Given the description of an element on the screen output the (x, y) to click on. 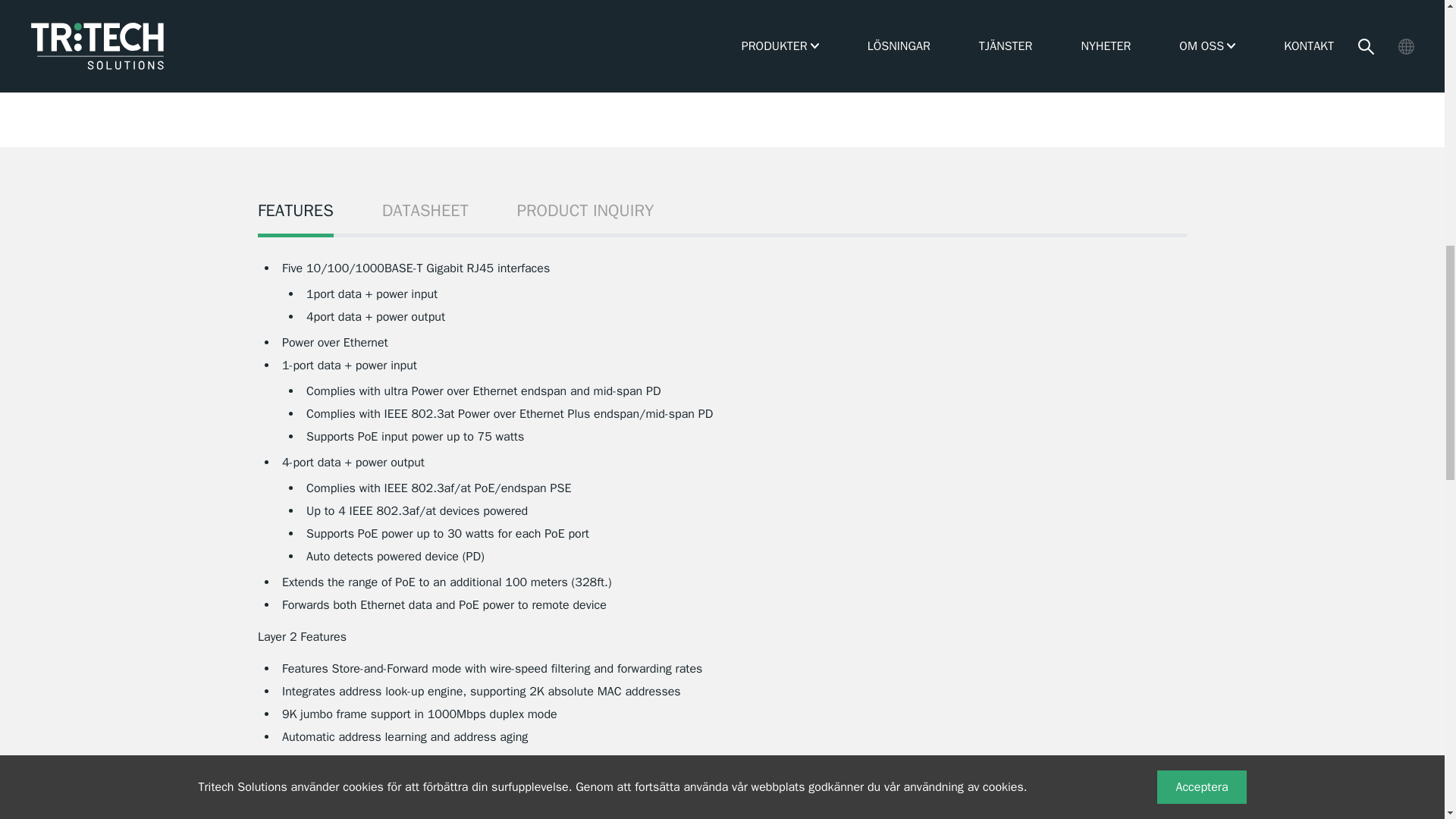
DATASHEET (424, 217)
Twitter (1152, 71)
Email (1177, 71)
FEATURES (295, 217)
Whatsapp (1104, 71)
Planet (884, 2)
PRODUCT INQUIRY (584, 217)
Facebook (1128, 71)
